Given the description of an element on the screen output the (x, y) to click on. 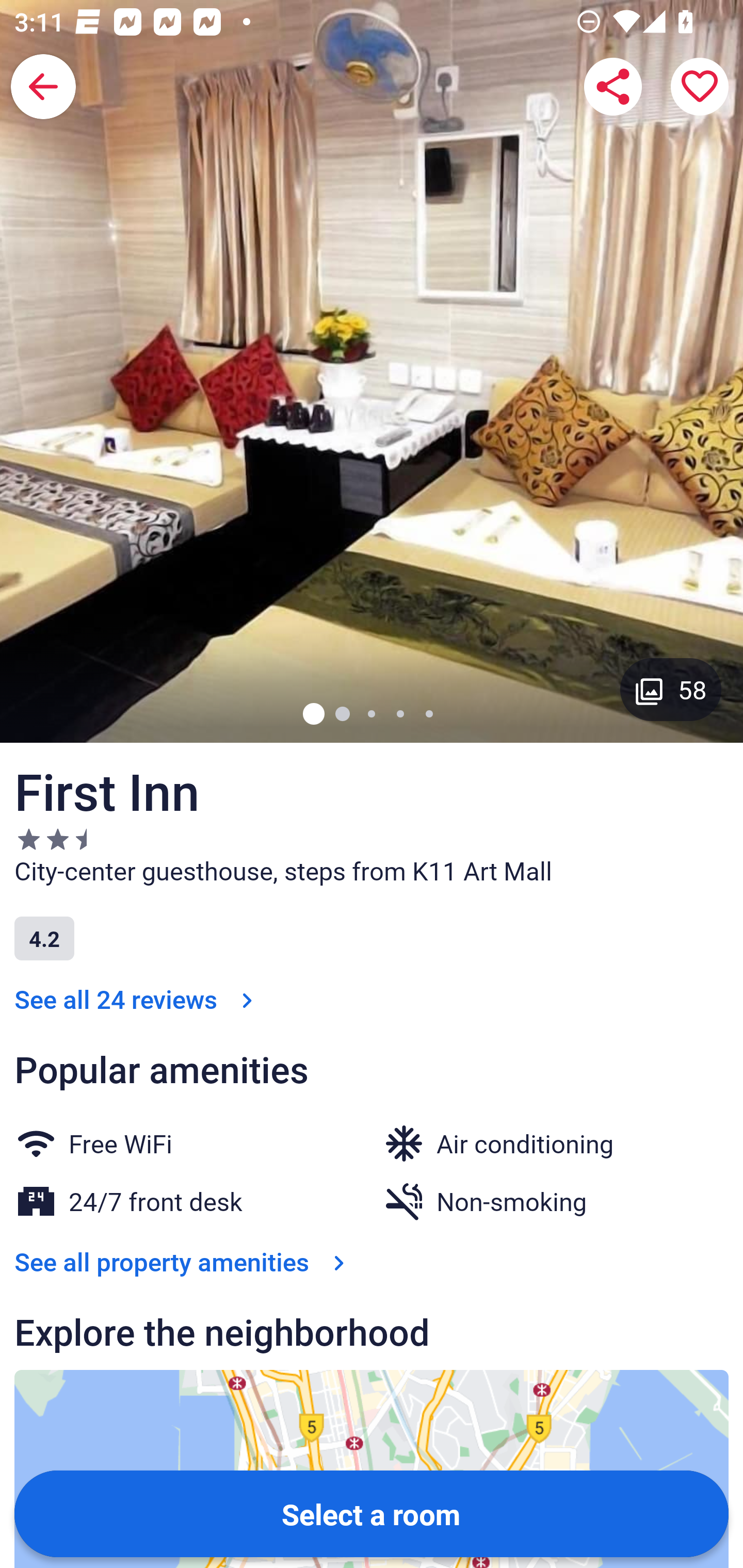
Back (43, 86)
Save property to a trip (699, 86)
Share First Inn (612, 87)
Gallery button with 58 images (670, 689)
See all 24 reviews See all 24 reviews Link (137, 999)
See all property amenities (183, 1261)
Select a room Button Select a room (371, 1513)
